Given the description of an element on the screen output the (x, y) to click on. 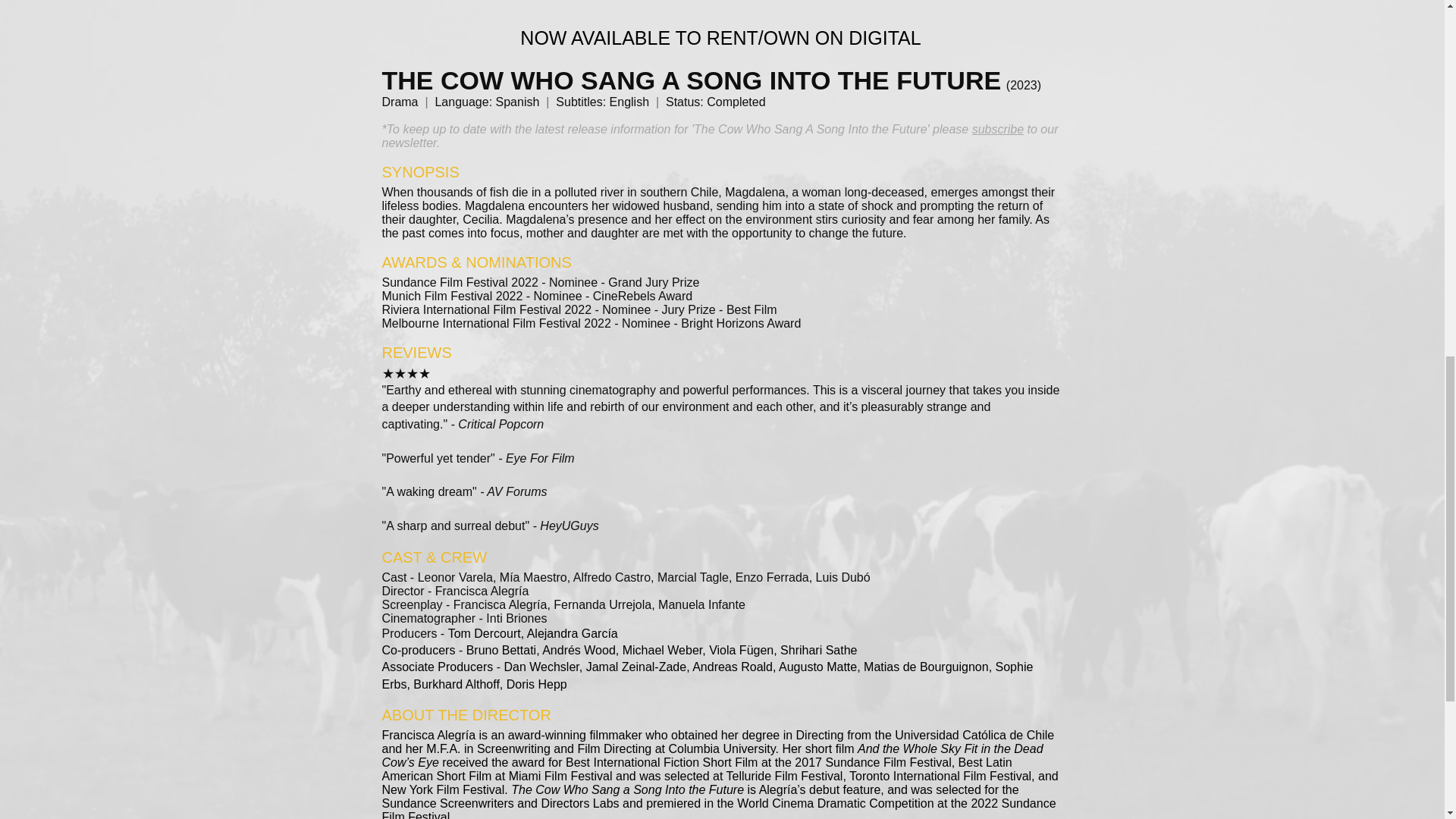
subscribe (997, 128)
